Given the description of an element on the screen output the (x, y) to click on. 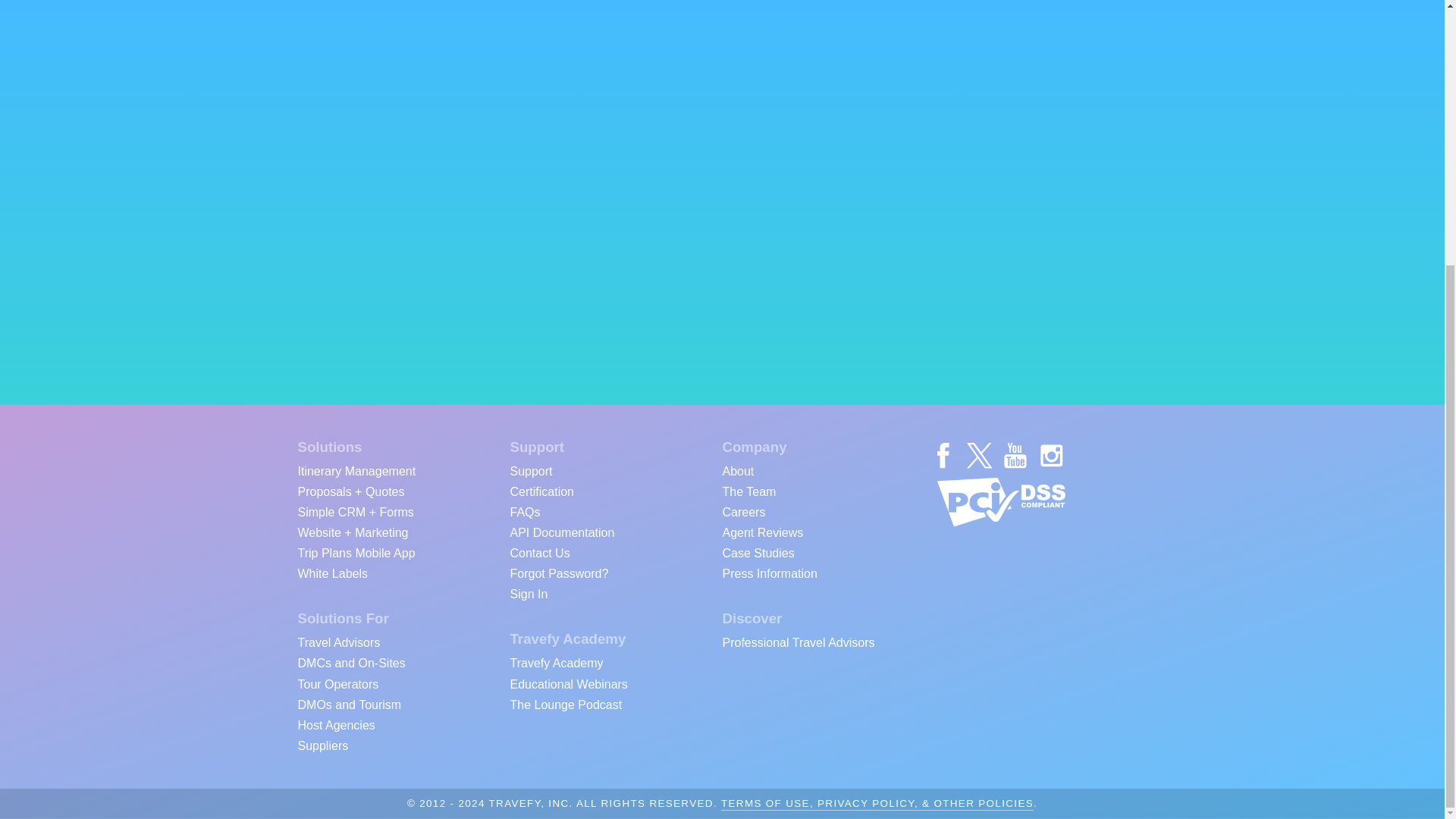
DMOs and Tourism (349, 702)
Travefy Academy (555, 661)
Sign In (528, 593)
Careers (743, 511)
Support (530, 470)
Case Studies (757, 552)
Contact Us (539, 552)
Certification (541, 490)
Agent Reviews (762, 531)
The Lounge Podcast (565, 702)
